Given the description of an element on the screen output the (x, y) to click on. 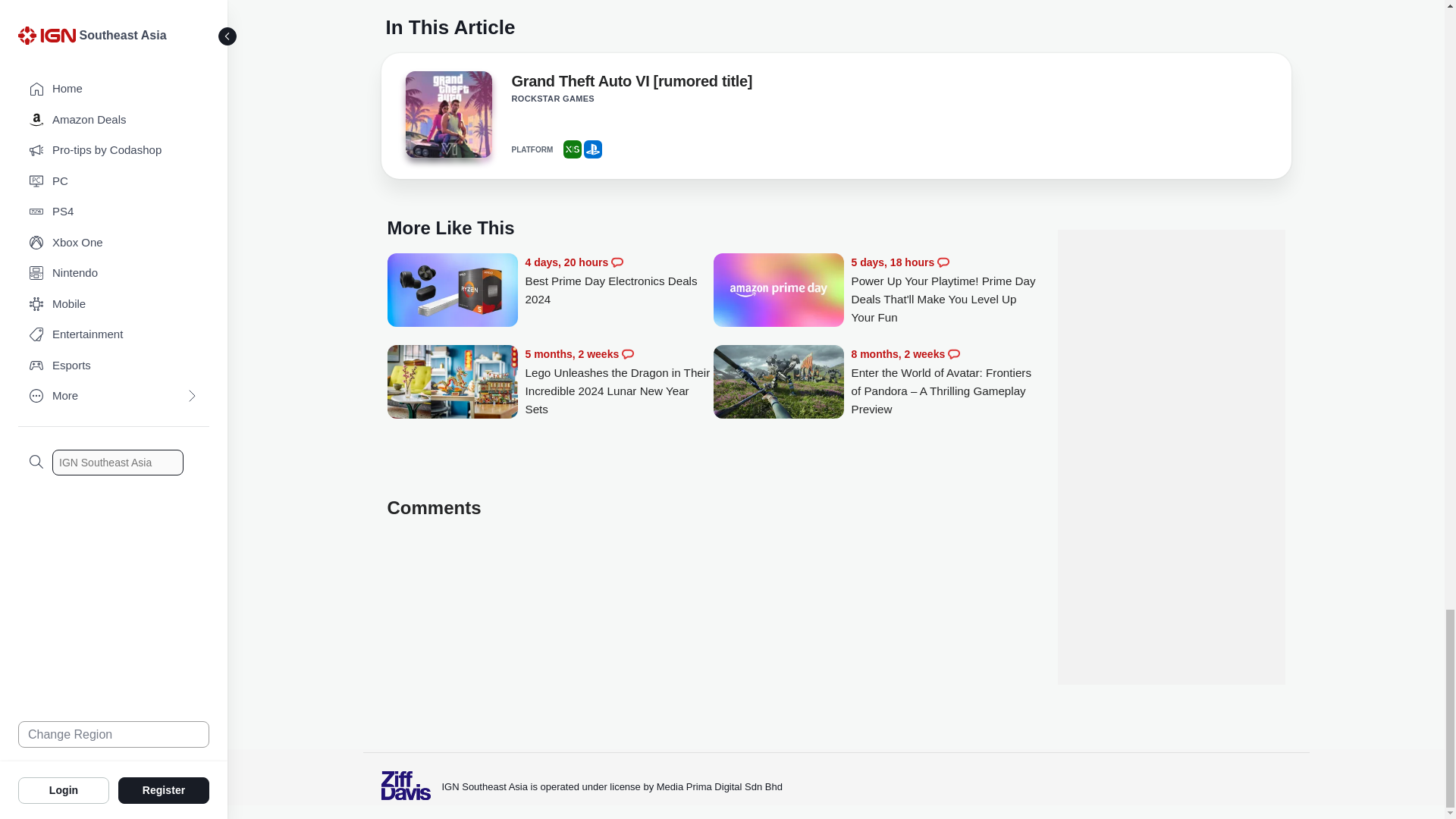
Comments (617, 262)
Best Prime Day Electronics Deals 2024 (451, 291)
Best Prime Day Electronics Deals 2024 (618, 280)
PS5 (592, 149)
XBOXSERIES (571, 149)
